Given the description of an element on the screen output the (x, y) to click on. 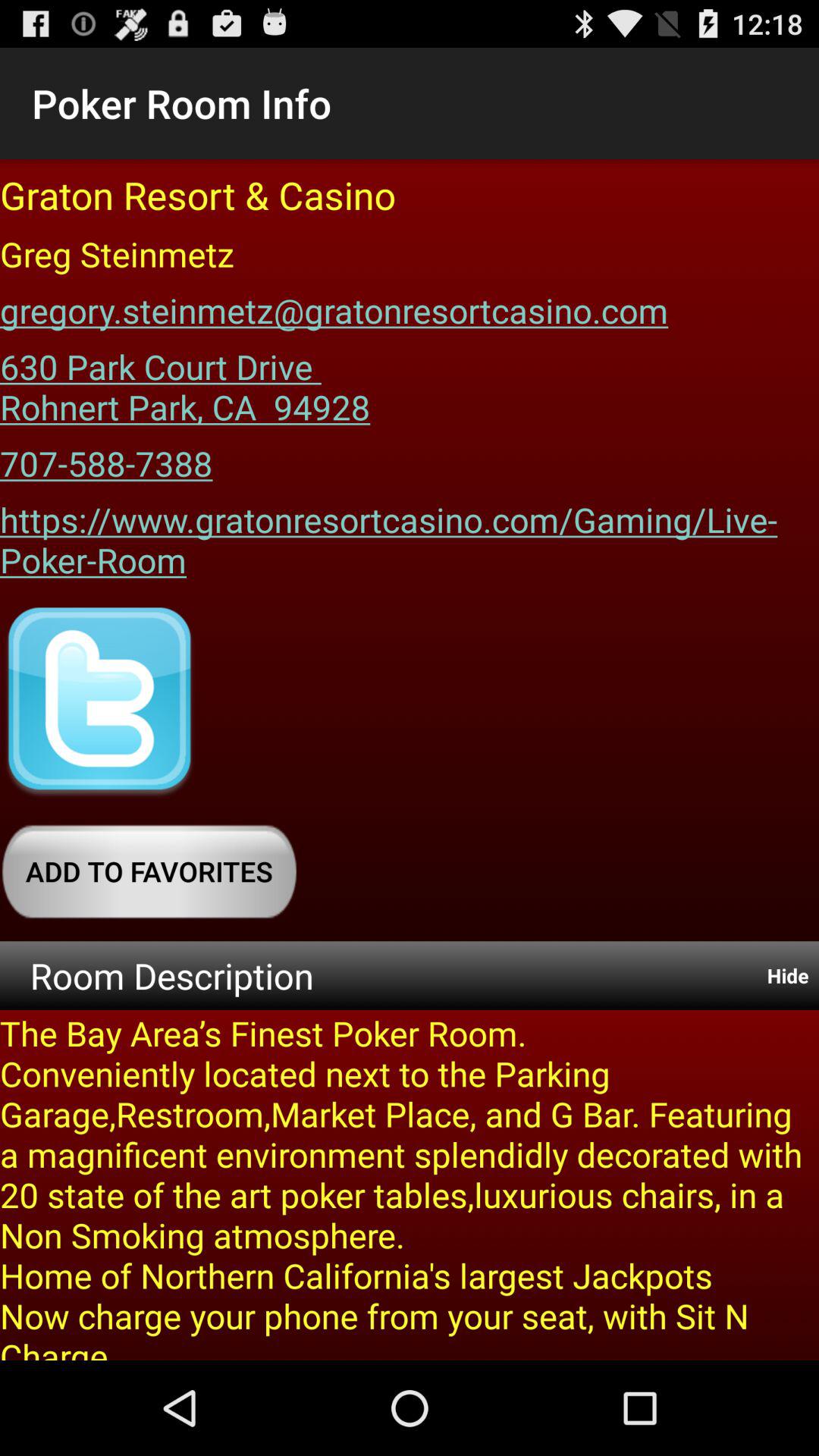
open add to favorites (149, 871)
